Given the description of an element on the screen output the (x, y) to click on. 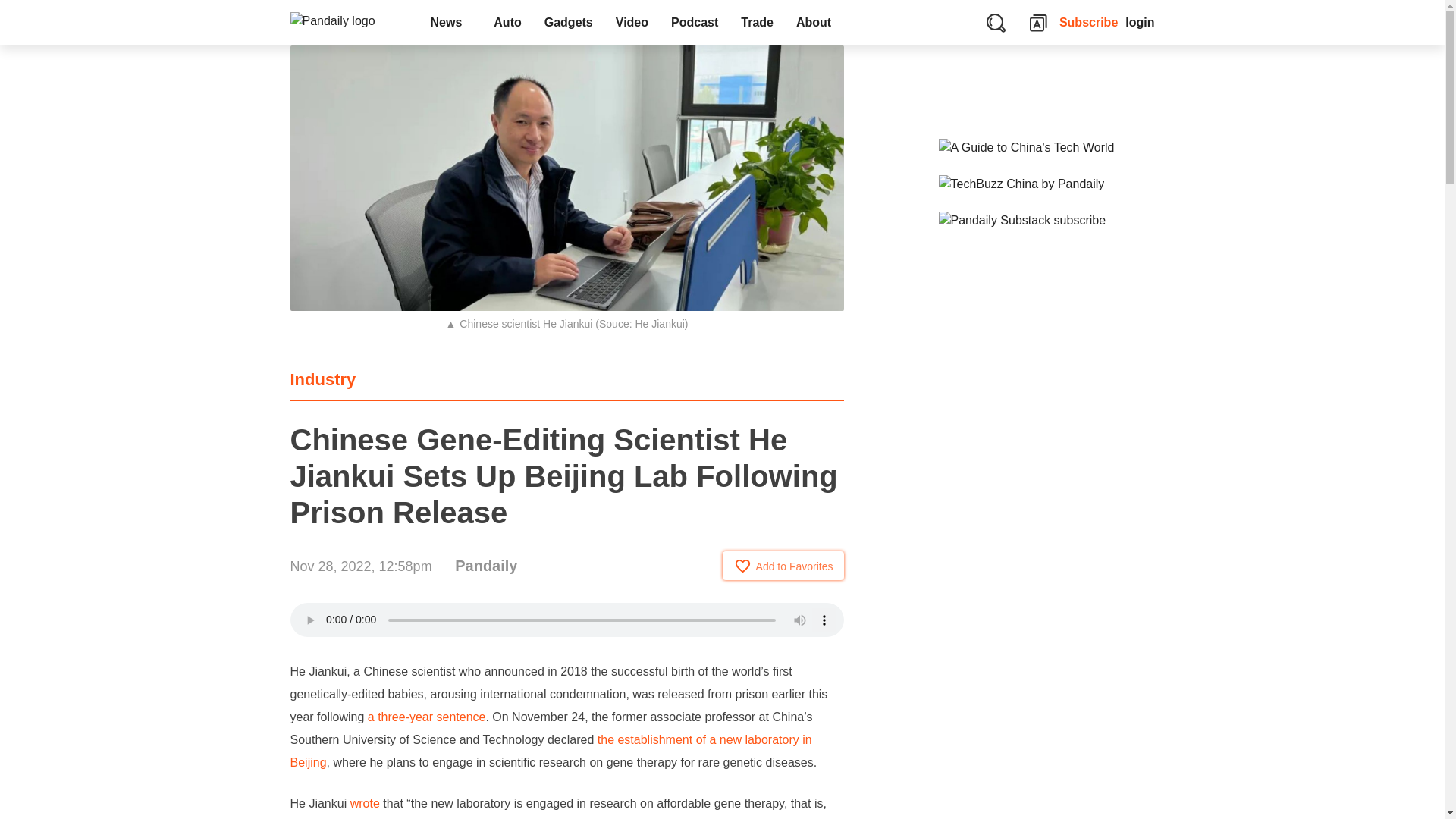
Pandaily (485, 565)
a three-year sentence (427, 716)
Auto (506, 22)
Podcast (694, 22)
Add to Favorites (783, 565)
the establishment of a new laboratory in Beijing (549, 751)
About (817, 22)
Gadgets (568, 22)
Trade (756, 22)
Industry (322, 379)
